Given the description of an element on the screen output the (x, y) to click on. 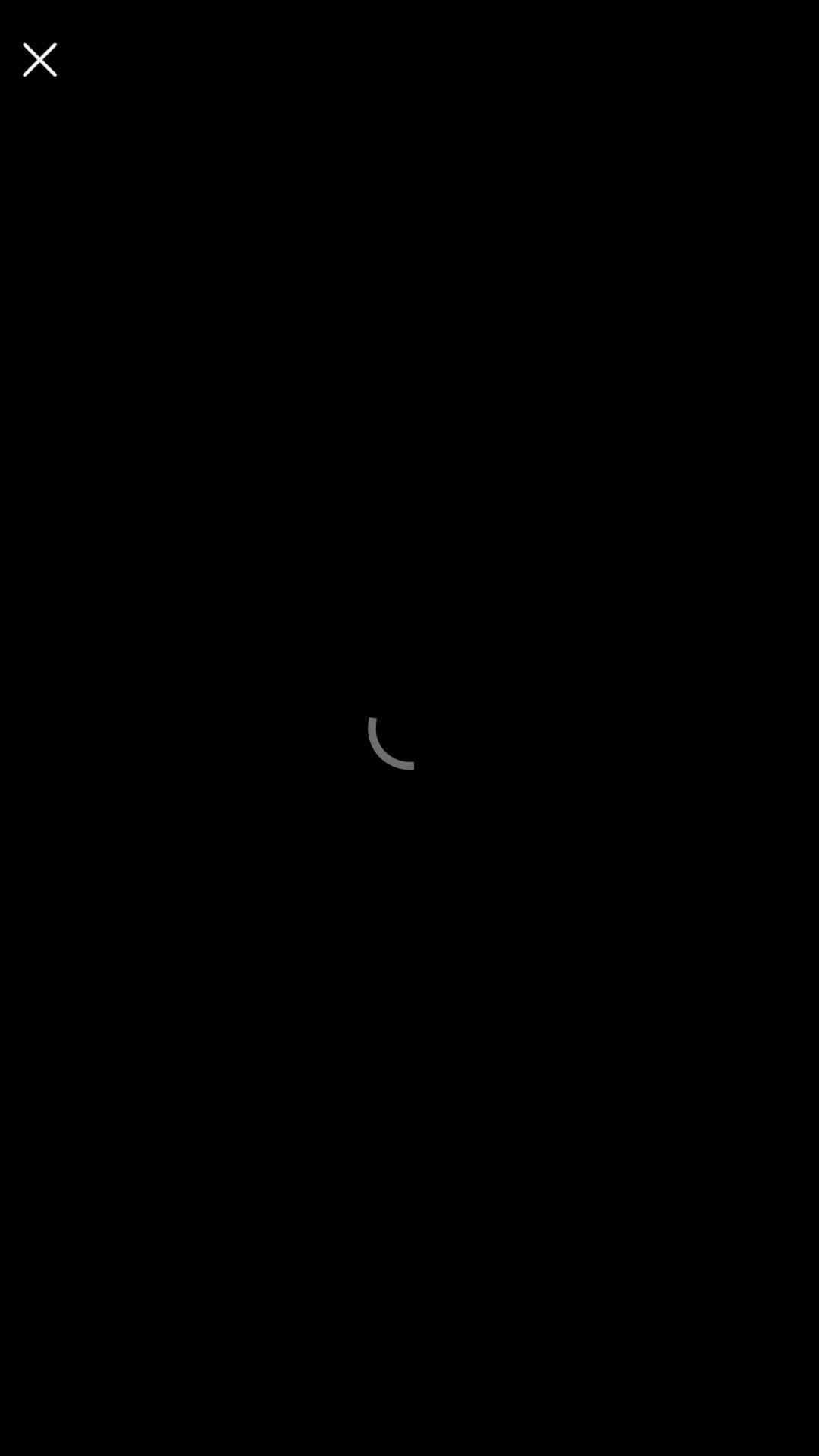
exit page (39, 59)
